Given the description of an element on the screen output the (x, y) to click on. 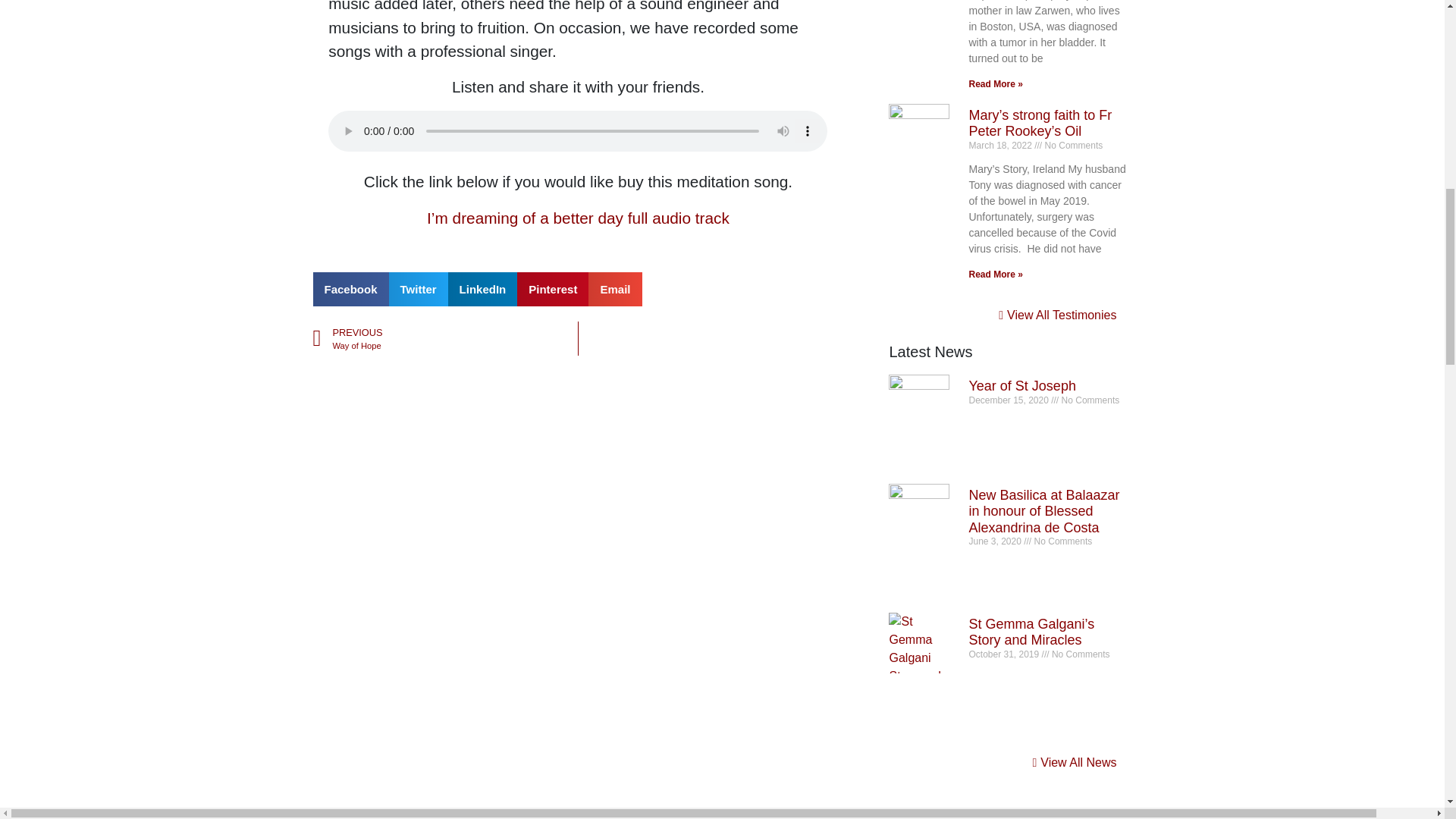
View All Testimonies (1057, 315)
Year of St Joseph (1021, 385)
